Given the description of an element on the screen output the (x, y) to click on. 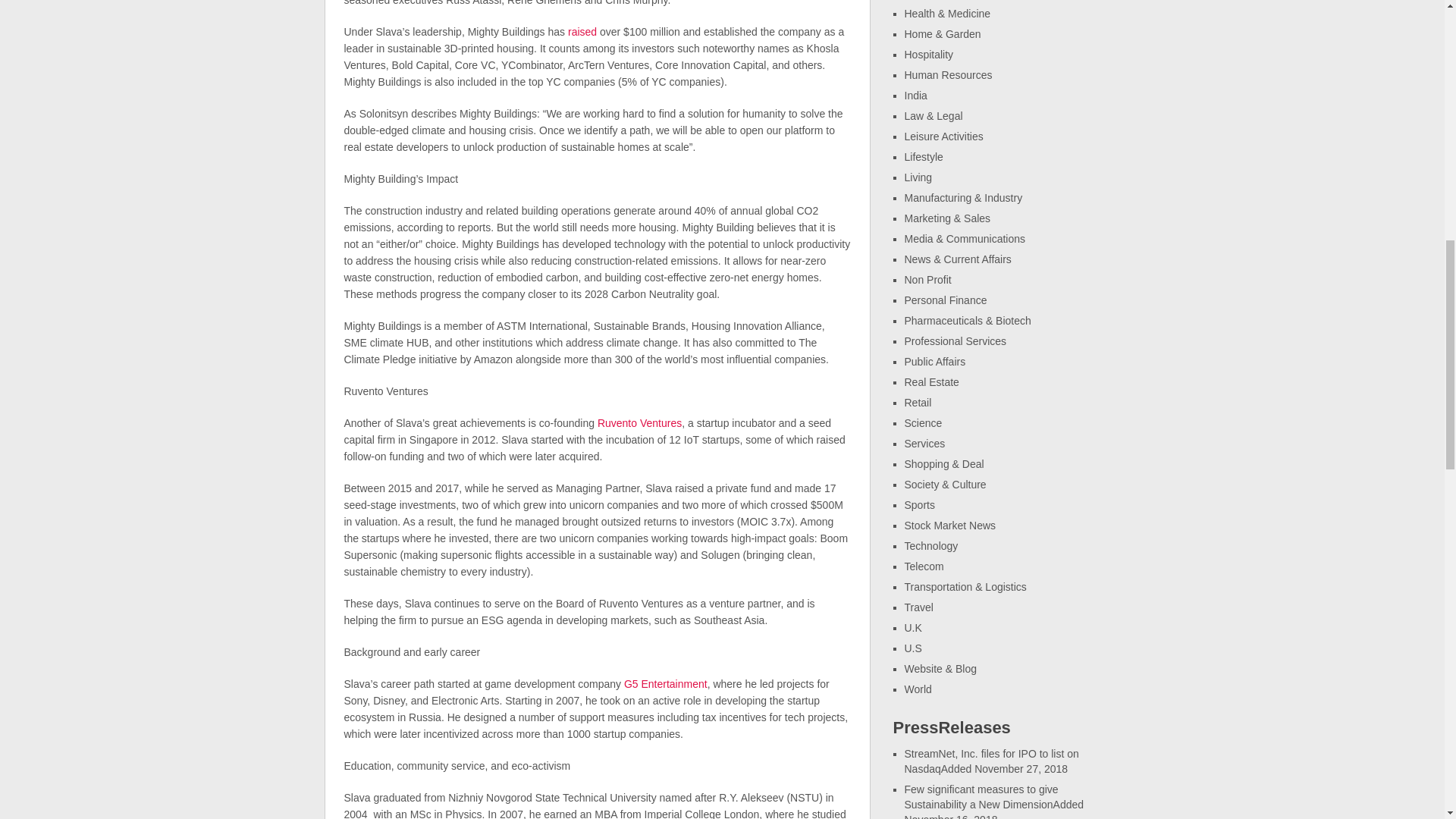
G5 Entertainment (665, 684)
raised (580, 31)
Ruvento Ventures (637, 422)
